Given the description of an element on the screen output the (x, y) to click on. 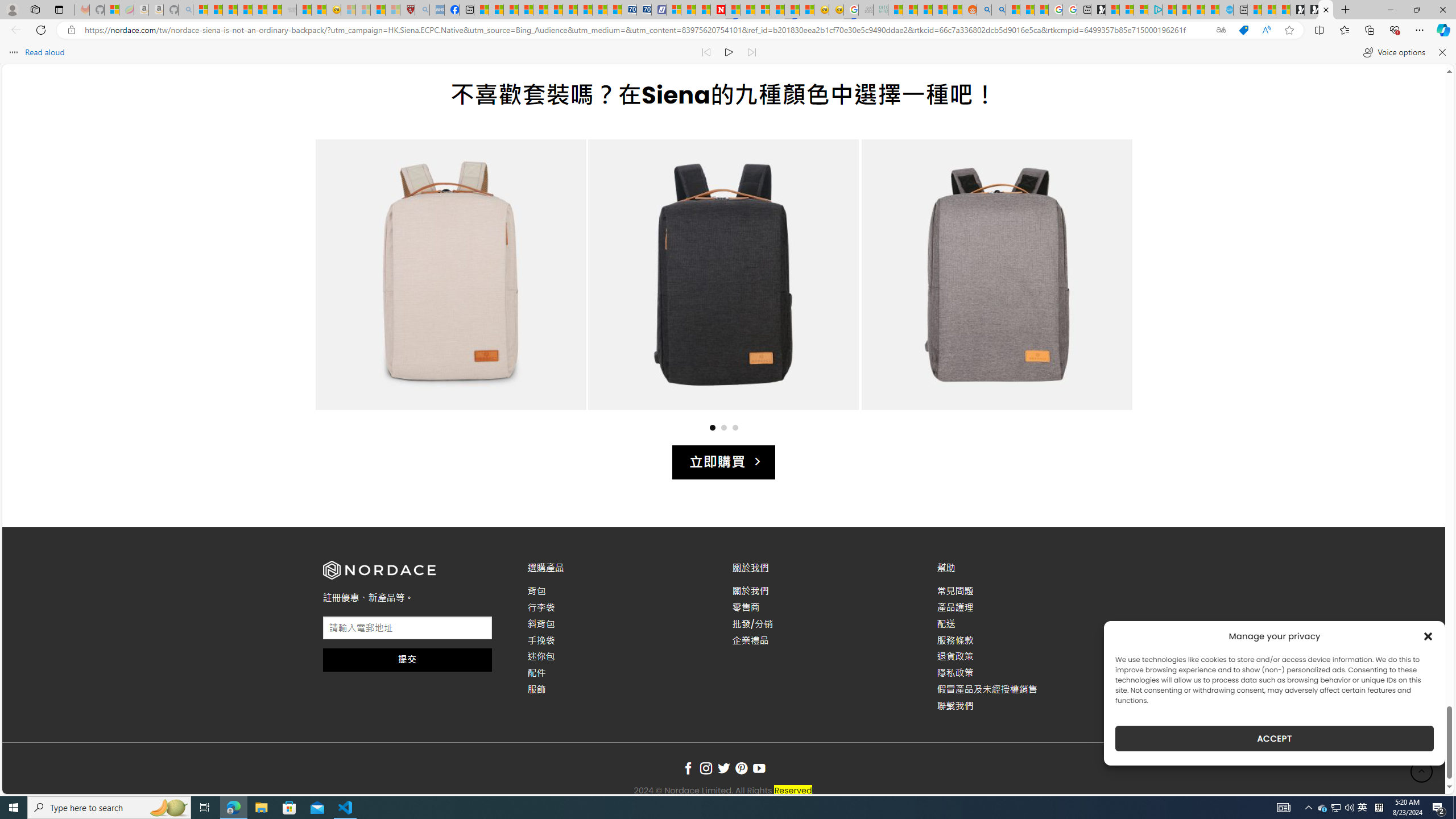
Newsweek - News, Analysis, Politics, Business, Technology (718, 9)
Go to top (1421, 771)
Robert H. Shmerling, MD - Harvard Health (406, 9)
